Given the description of an element on the screen output the (x, y) to click on. 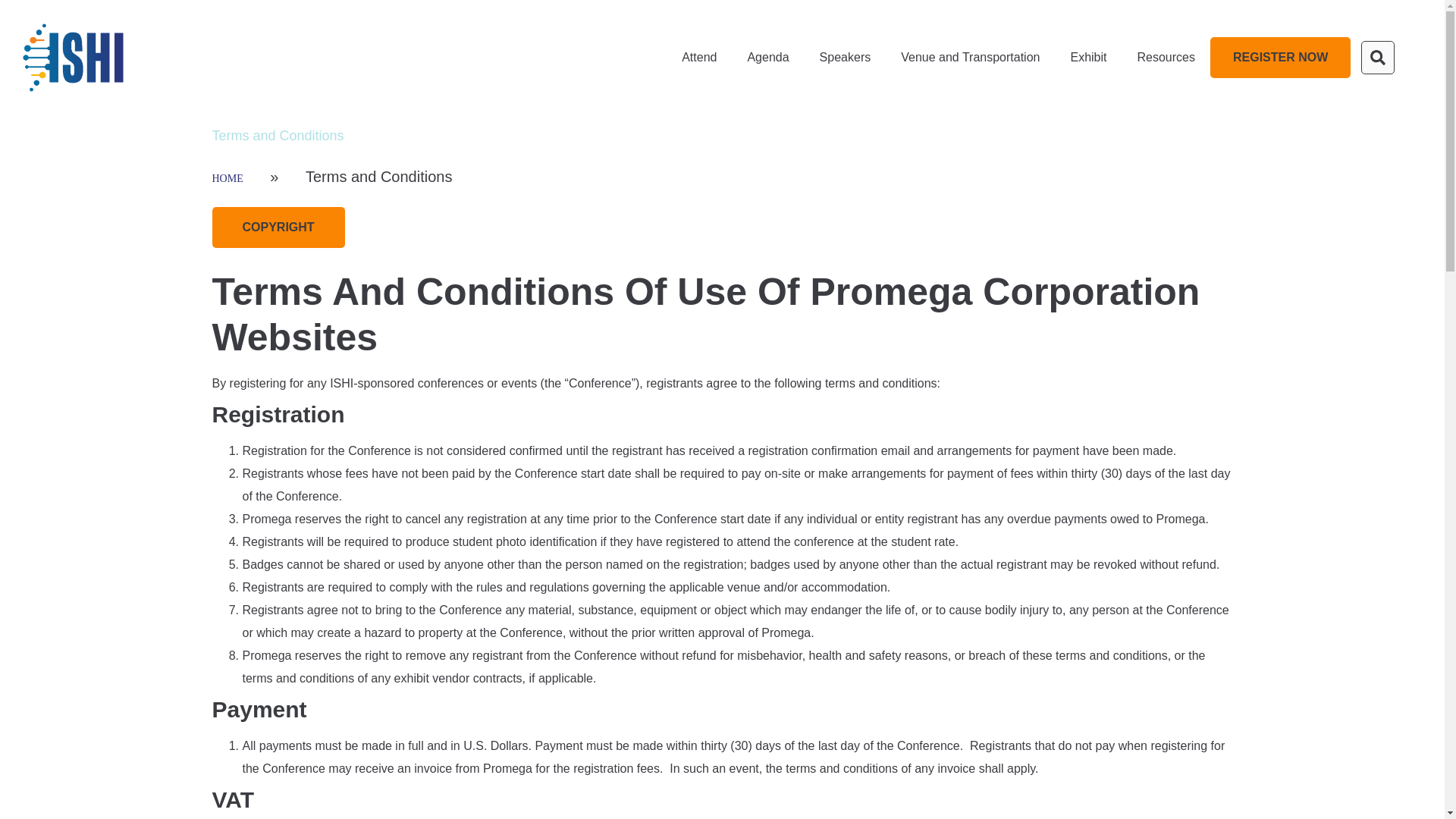
Resources (1165, 57)
Speakers (845, 57)
Exhibit (1087, 57)
Attend (699, 57)
Venue and Transportation (969, 57)
Agenda (767, 57)
